Given the description of an element on the screen output the (x, y) to click on. 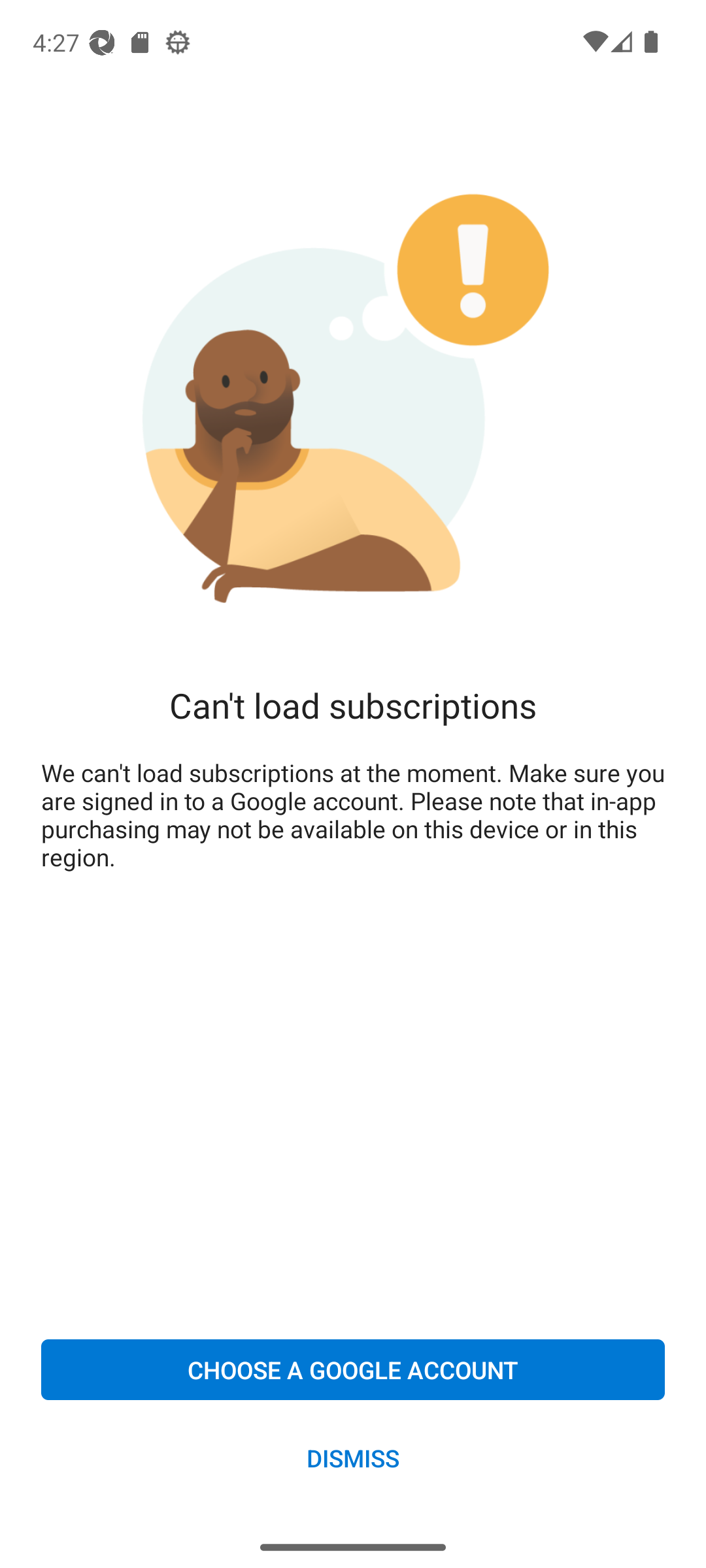
CHOOSE A GOOGLE ACCOUNT (352, 1369)
DISMISS (352, 1457)
